Given the description of an element on the screen output the (x, y) to click on. 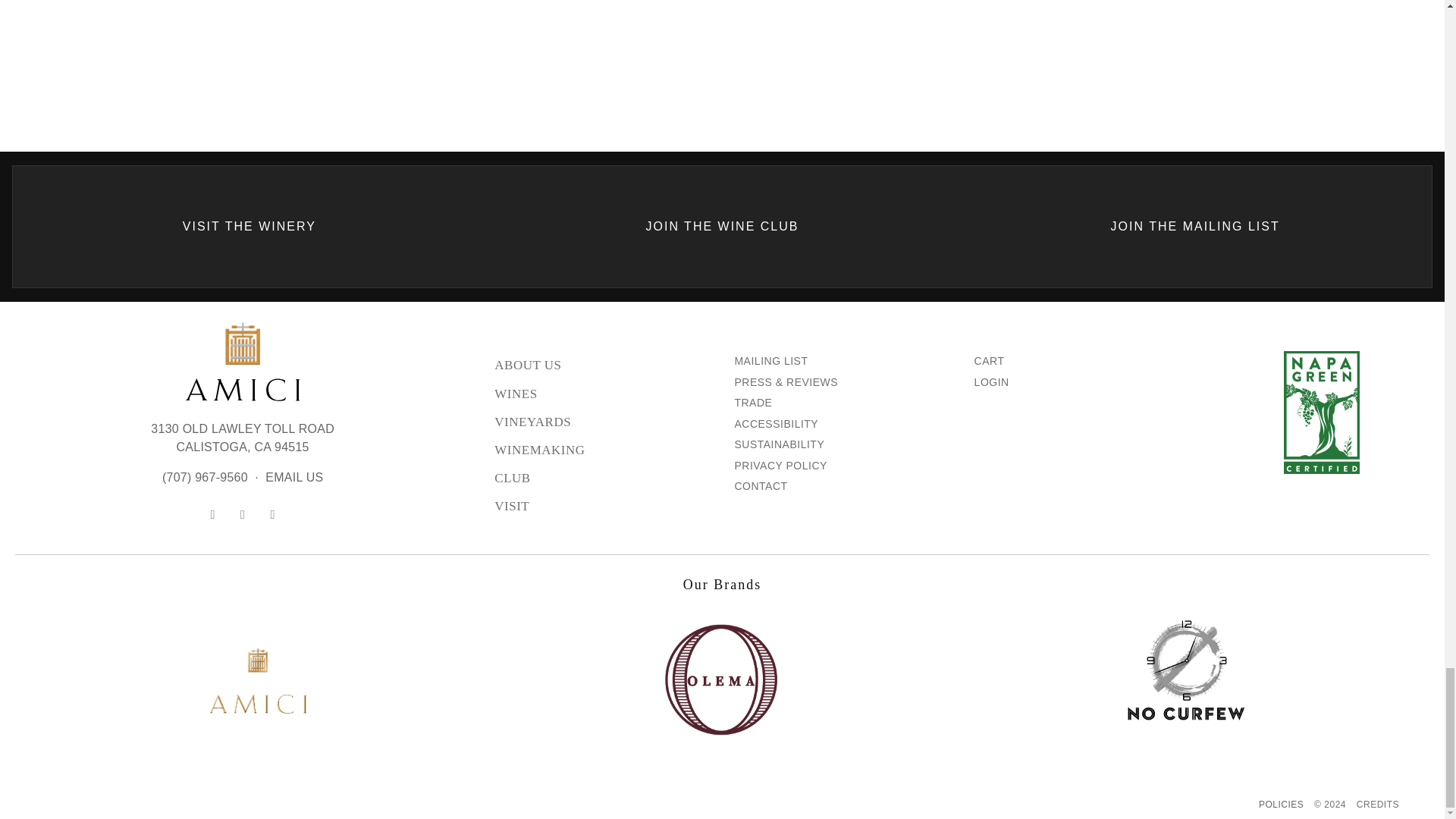
JOIN THE MAILING LIST (1194, 226)
ABOUT US (602, 365)
EMAIL US (293, 477)
VISIT THE WINERY (249, 226)
JOIN THE WINE CLUB (242, 437)
VINEYARDS (722, 226)
WINEMAKING (602, 421)
WINES (602, 449)
